Given the description of an element on the screen output the (x, y) to click on. 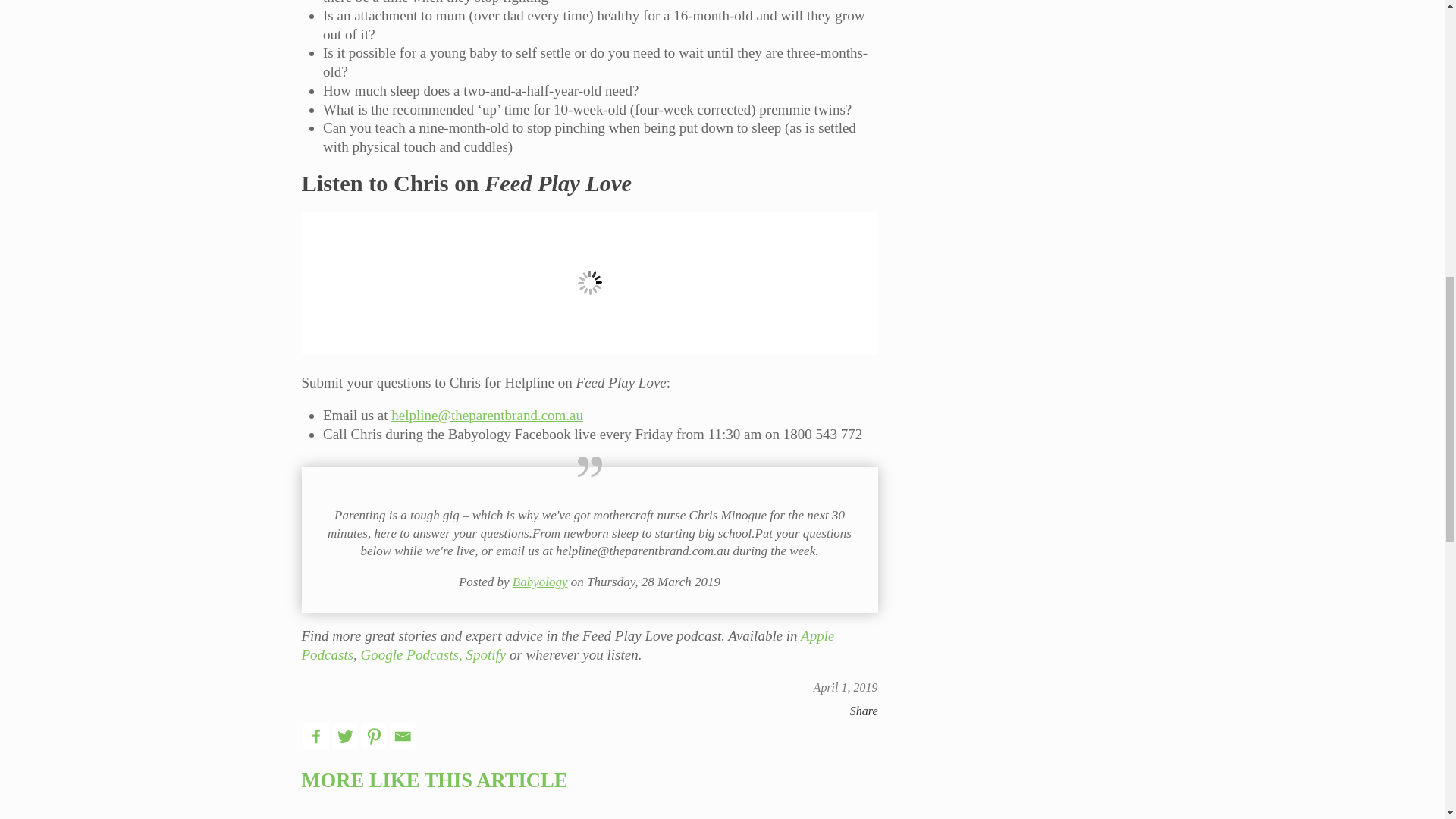
Pinterest (374, 736)
Facebook (315, 736)
Email (402, 736)
Twitter (344, 736)
7:01 am (845, 686)
Google Podcasts, (412, 654)
Babyology (539, 581)
Apple Podcasts (567, 645)
Spotify (485, 654)
April 1, 2019 (845, 686)
